Given the description of an element on the screen output the (x, y) to click on. 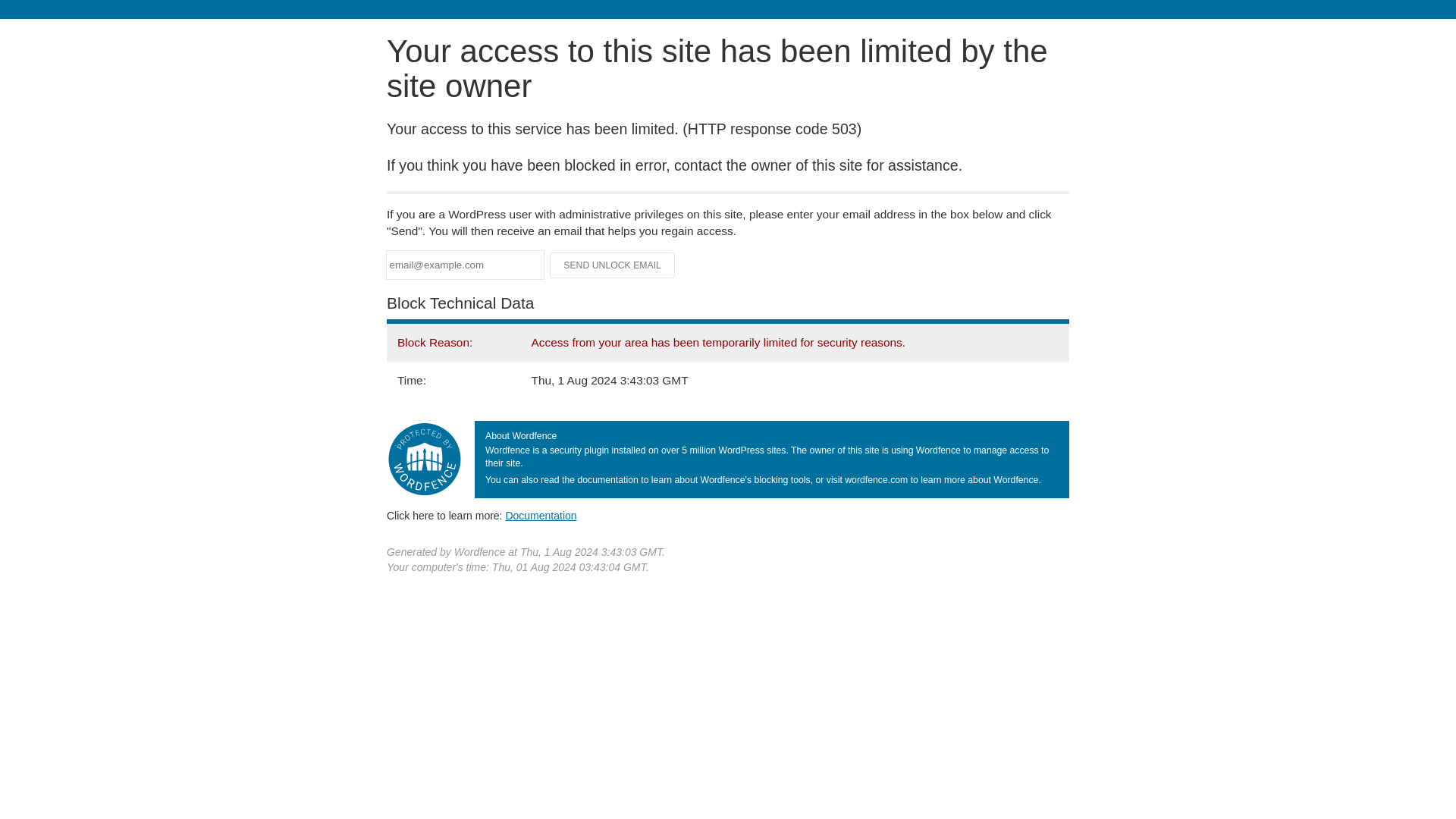
Send Unlock Email (612, 265)
Documentation (540, 515)
Send Unlock Email (612, 265)
